Given the description of an element on the screen output the (x, y) to click on. 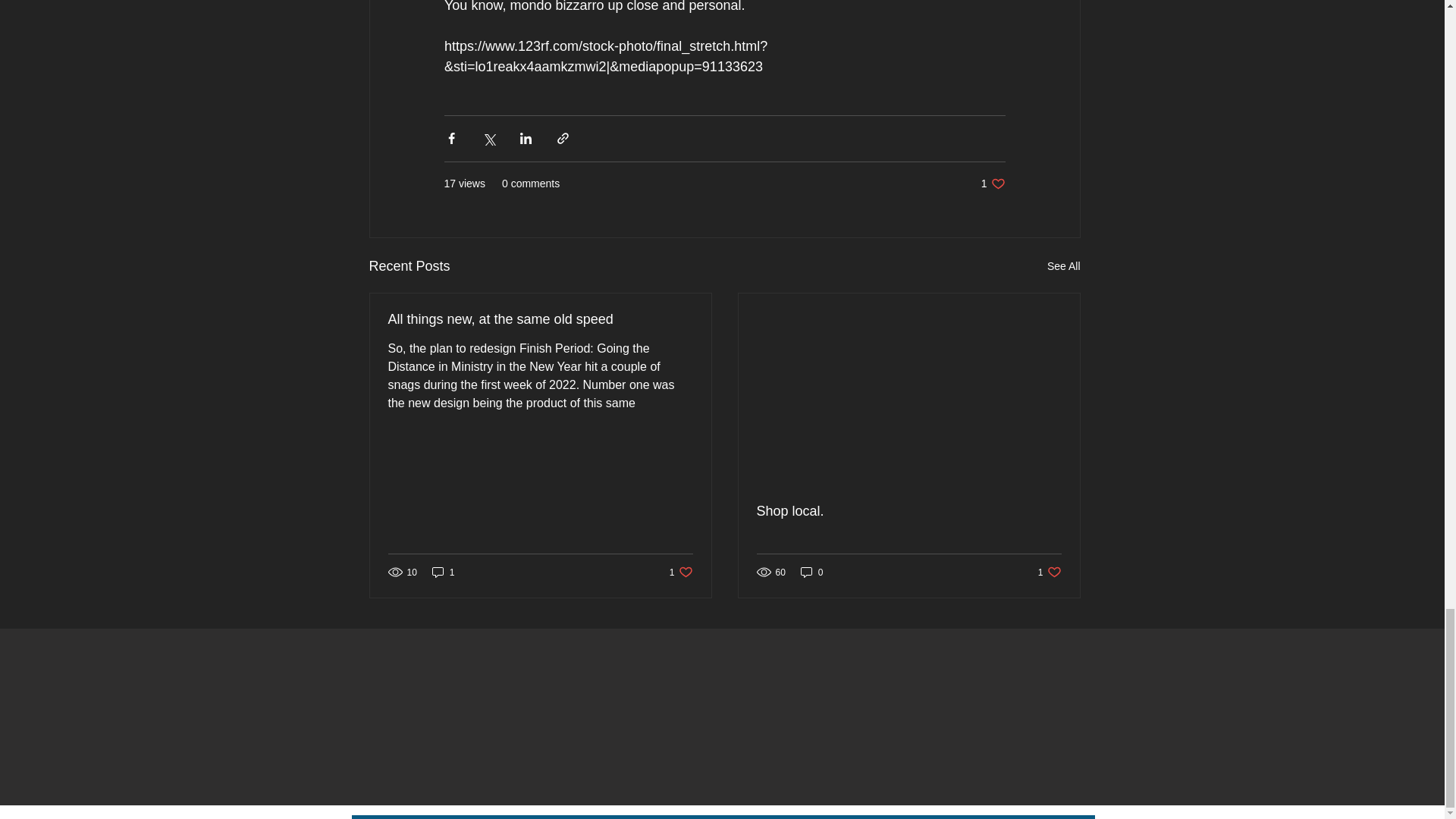
See All (993, 183)
All things new, at the same old speed (681, 572)
1 (1063, 266)
0 (540, 319)
Shop local. (443, 572)
